Given the description of an element on the screen output the (x, y) to click on. 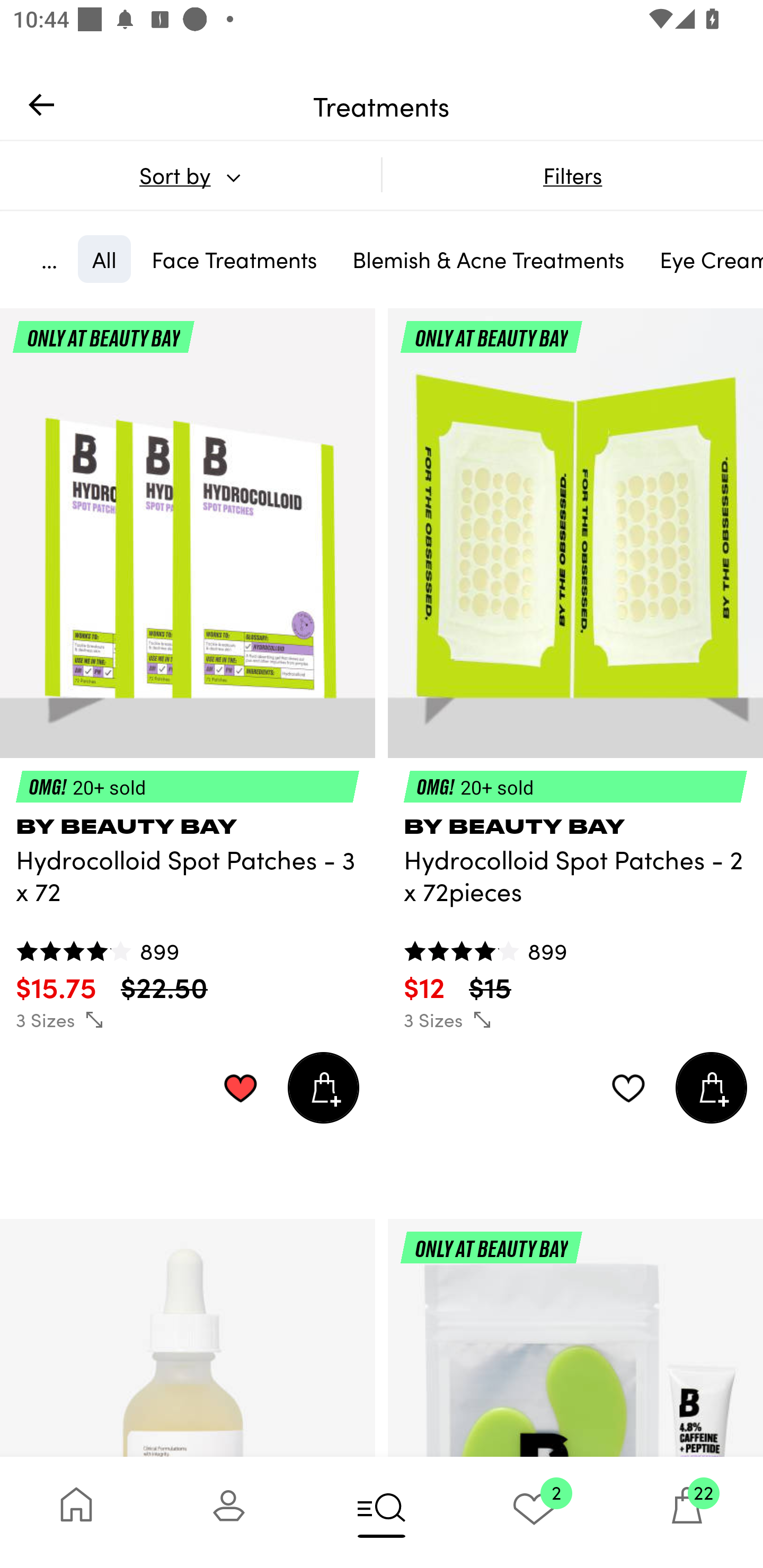
Sort by (190, 174)
Filters (572, 174)
... (48, 258)
All (104, 258)
Face Treatments (234, 258)
Blemish & Acne Treatments (488, 258)
Eye Creams & Treatments (704, 258)
2 (533, 1512)
22 (686, 1512)
